Given the description of an element on the screen output the (x, y) to click on. 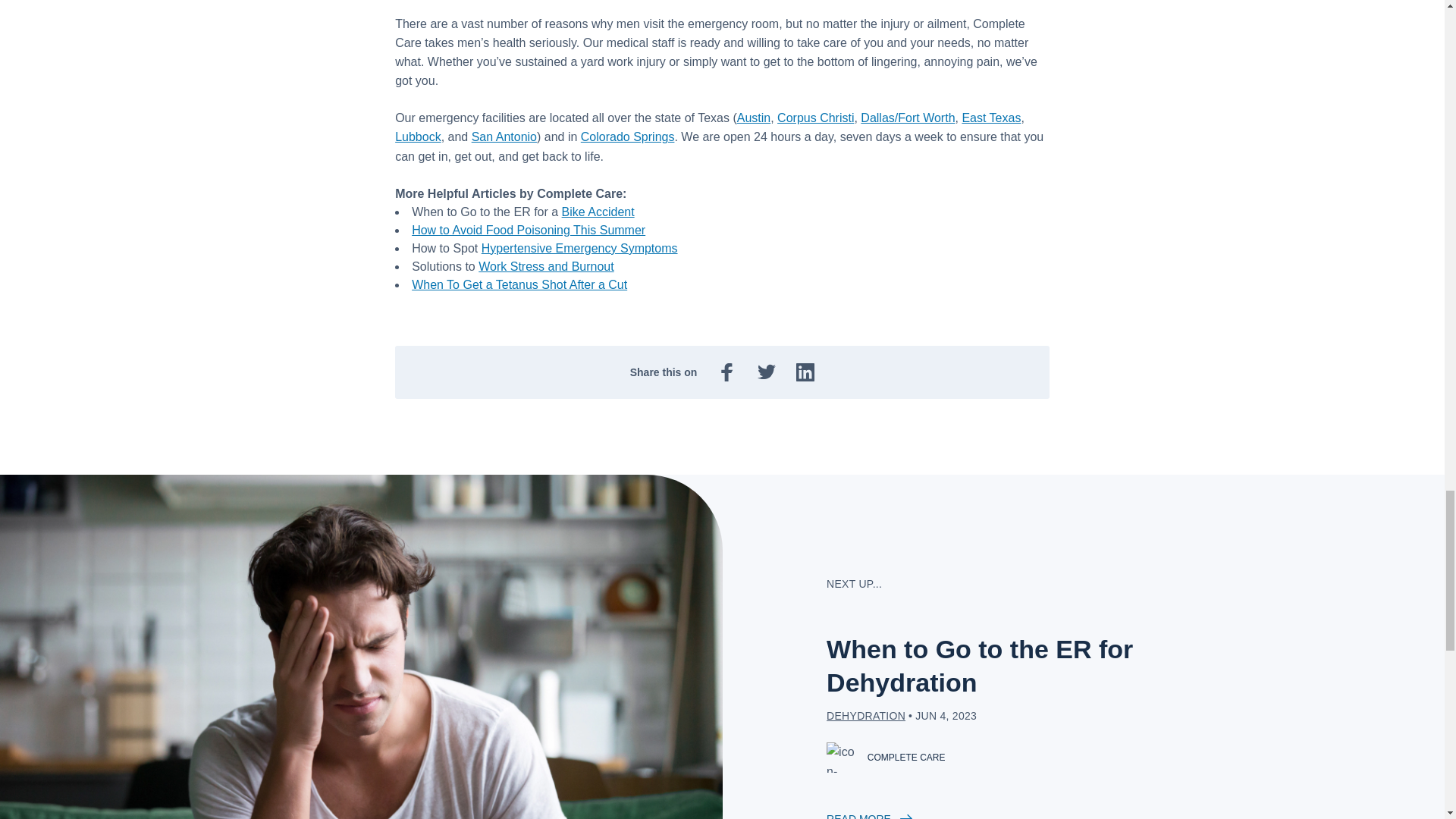
How to Avoid Food Poisoning This Summer (528, 229)
Colorado Springs (627, 136)
San Antonio (504, 136)
Corpus Christi (815, 117)
Austin (753, 117)
Work Stress and Burnout (545, 266)
Lubbock (417, 136)
Hypertensive Emergency Symptoms (579, 247)
READ MORE (1022, 814)
When To Get a Tetanus Shot After a Cut (519, 284)
East Texas (990, 117)
Bike Accident (598, 211)
